Given the description of an element on the screen output the (x, y) to click on. 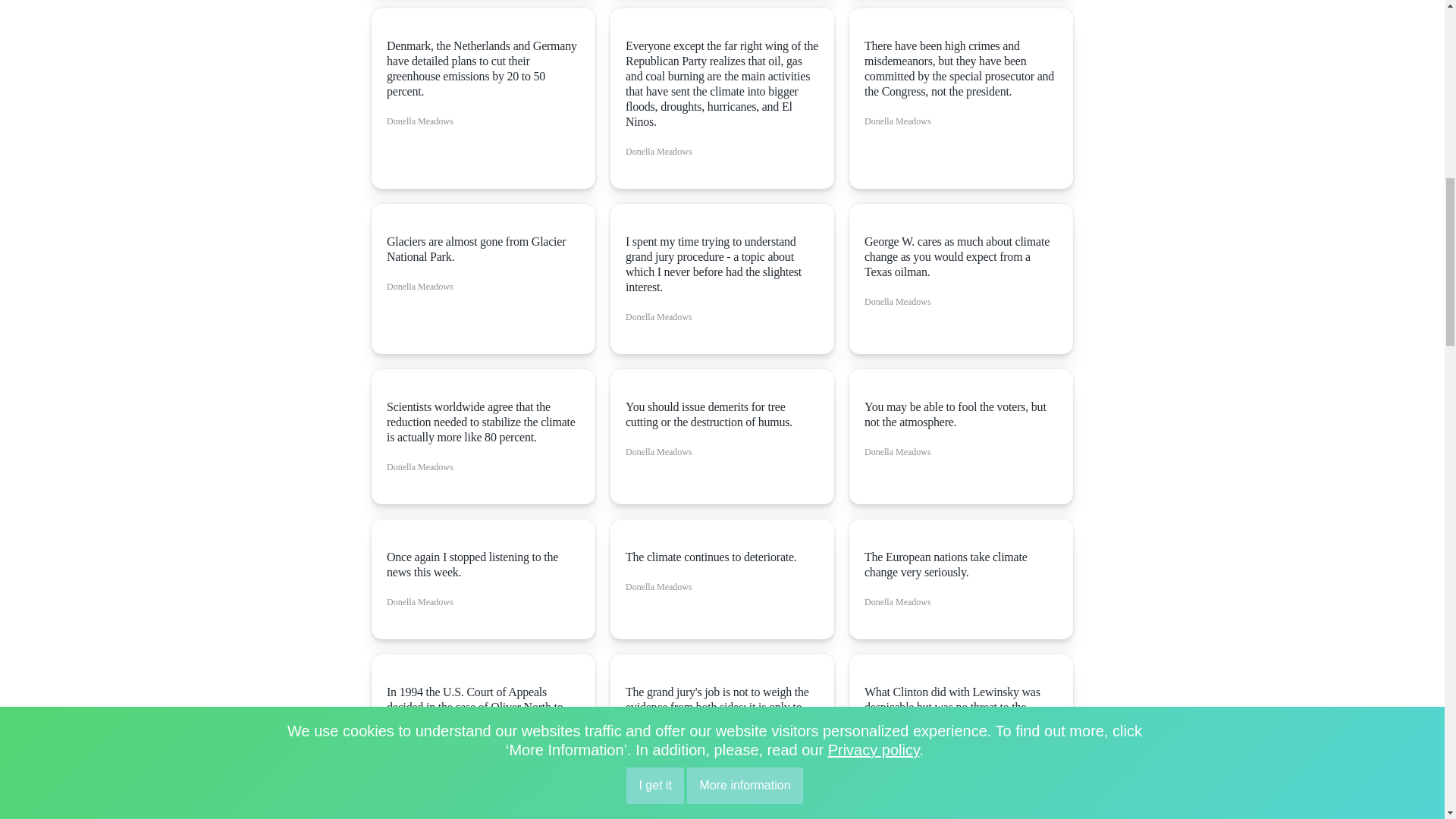
Glaciers are almost gone from Glacier National Park. (483, 249)
